Given the description of an element on the screen output the (x, y) to click on. 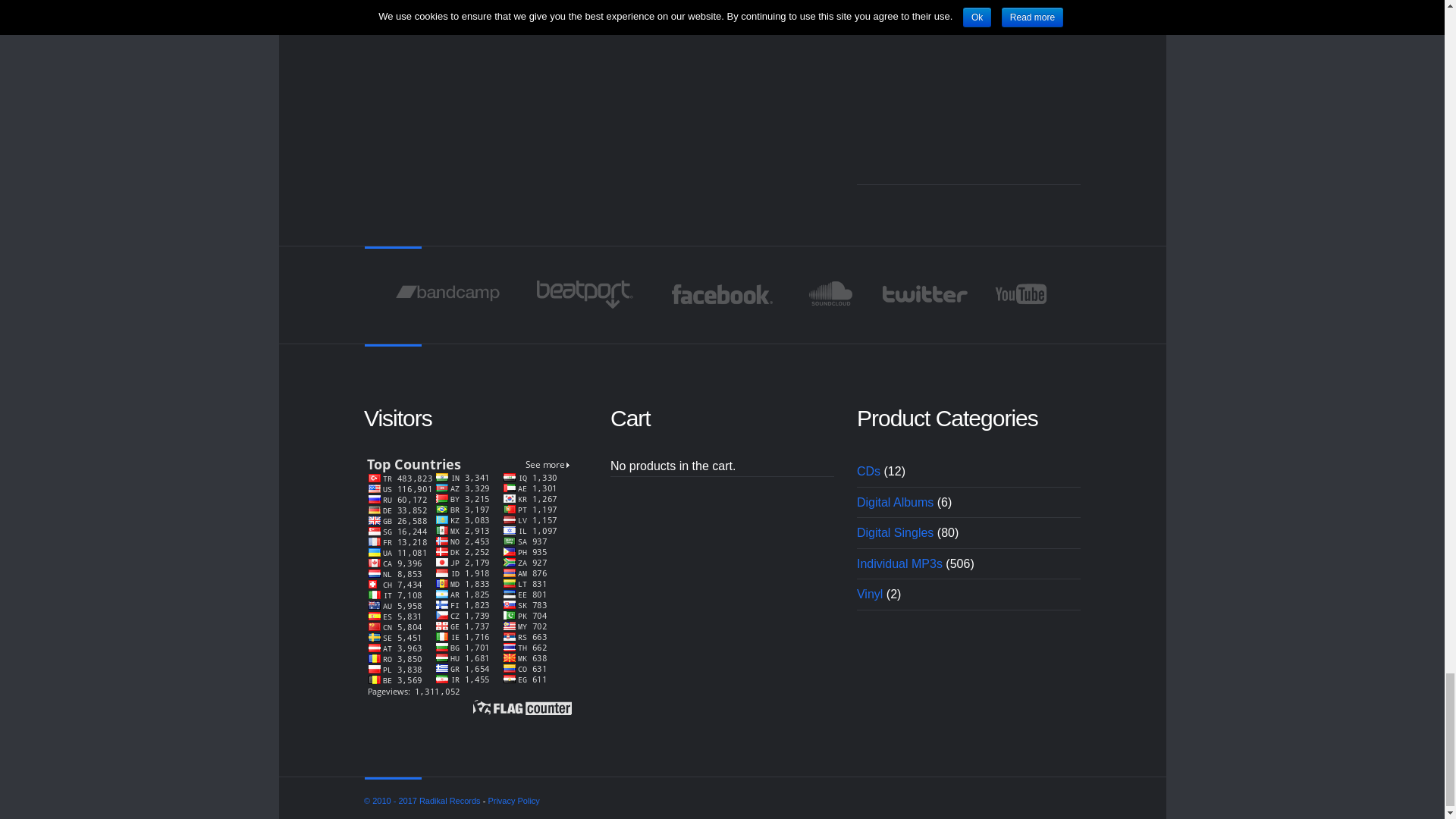
Bandcamp (447, 294)
Contact (968, 89)
Facebook (722, 294)
Beatport (585, 294)
